Given the description of an element on the screen output the (x, y) to click on. 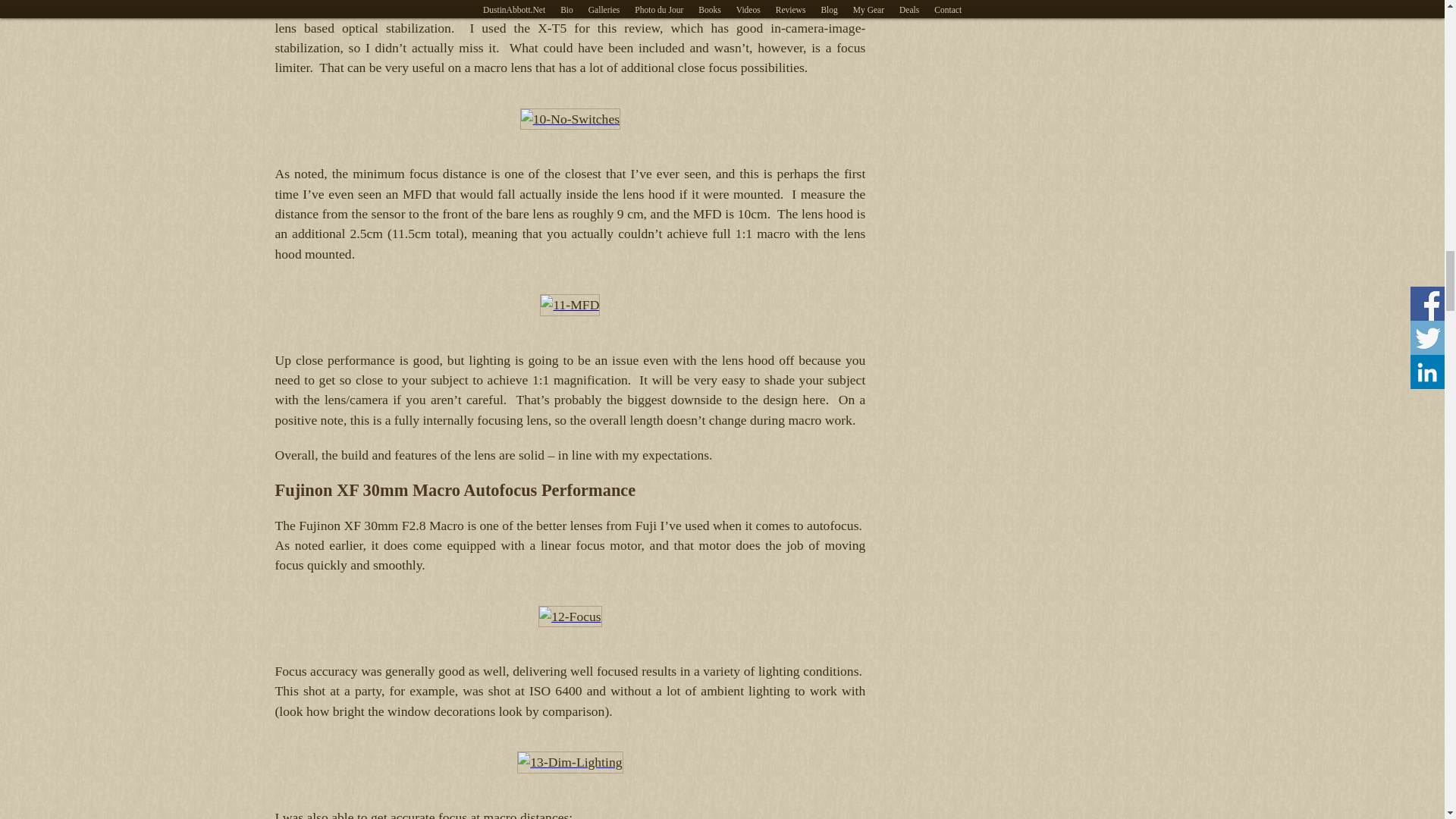
11-MFD (569, 304)
13-Dim-Lighting (569, 762)
10-No-Switches (569, 118)
12-Focus (570, 616)
